Given the description of an element on the screen output the (x, y) to click on. 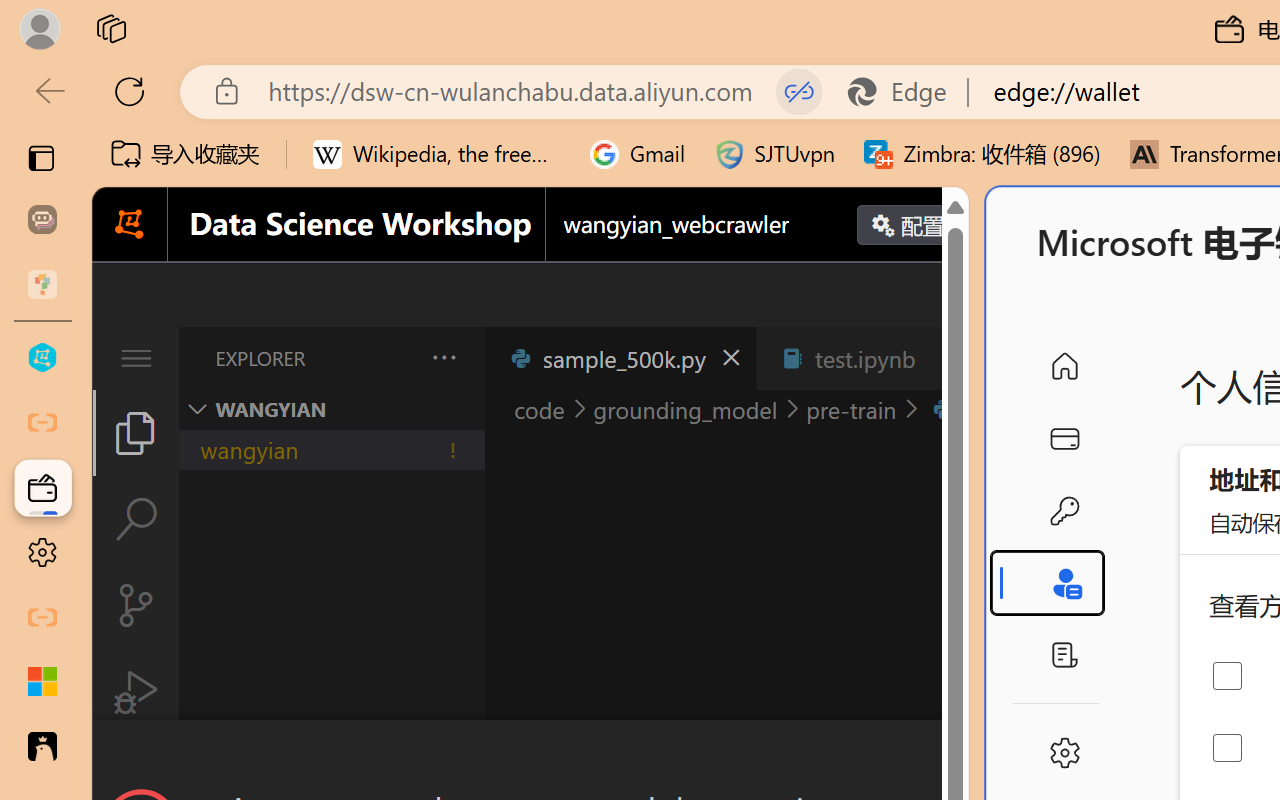
Source Control (Ctrl+Shift+G) (135, 604)
Gmail (637, 154)
Close Dialog (959, 756)
Explorer actions (391, 358)
SJTUvpn (774, 154)
test.ipynb (864, 358)
Run and Debug (Ctrl+Shift+D) (135, 692)
